Given the description of an element on the screen output the (x, y) to click on. 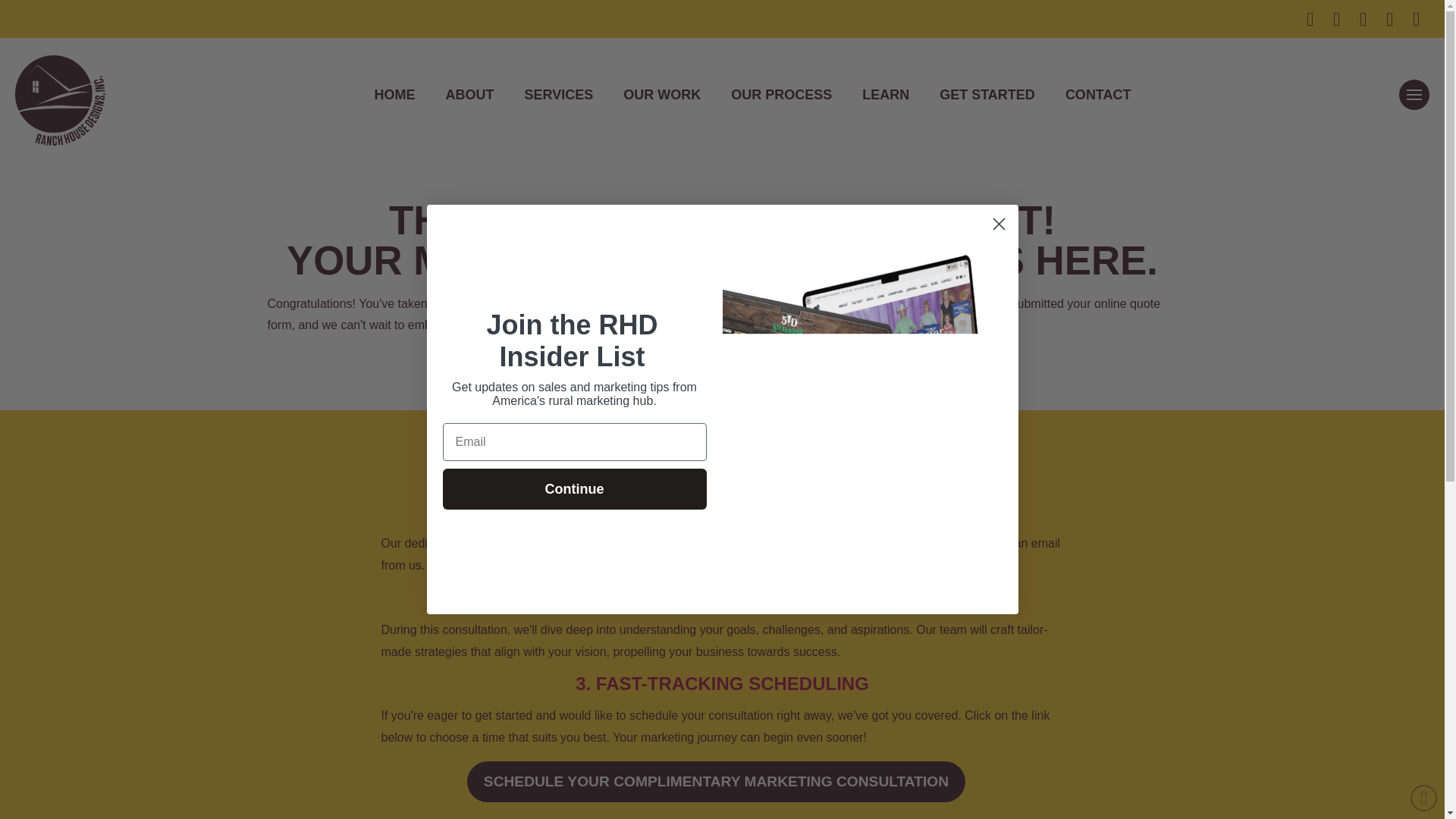
GET STARTED (986, 94)
SCHEDULE YOUR COMPLIMENTARY MARKETING CONSULTATION (715, 781)
Back to Top (1423, 797)
OUR PROCESS (781, 94)
Close dialog (998, 223)
OUR WORK (662, 94)
